Given the description of an element on the screen output the (x, y) to click on. 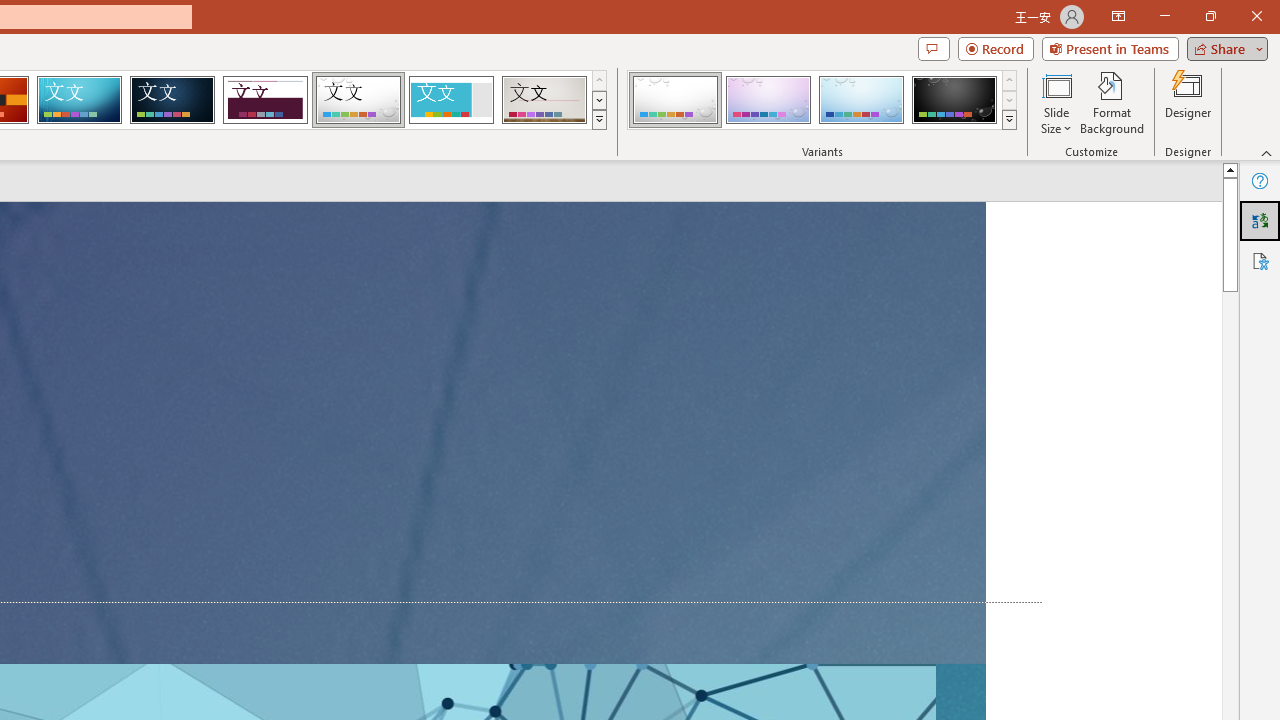
Droplet Variant 1 (674, 100)
Droplet Variant 4 (953, 100)
Gallery (544, 100)
Themes (598, 120)
Slide Size (1056, 102)
